Given the description of an element on the screen output the (x, y) to click on. 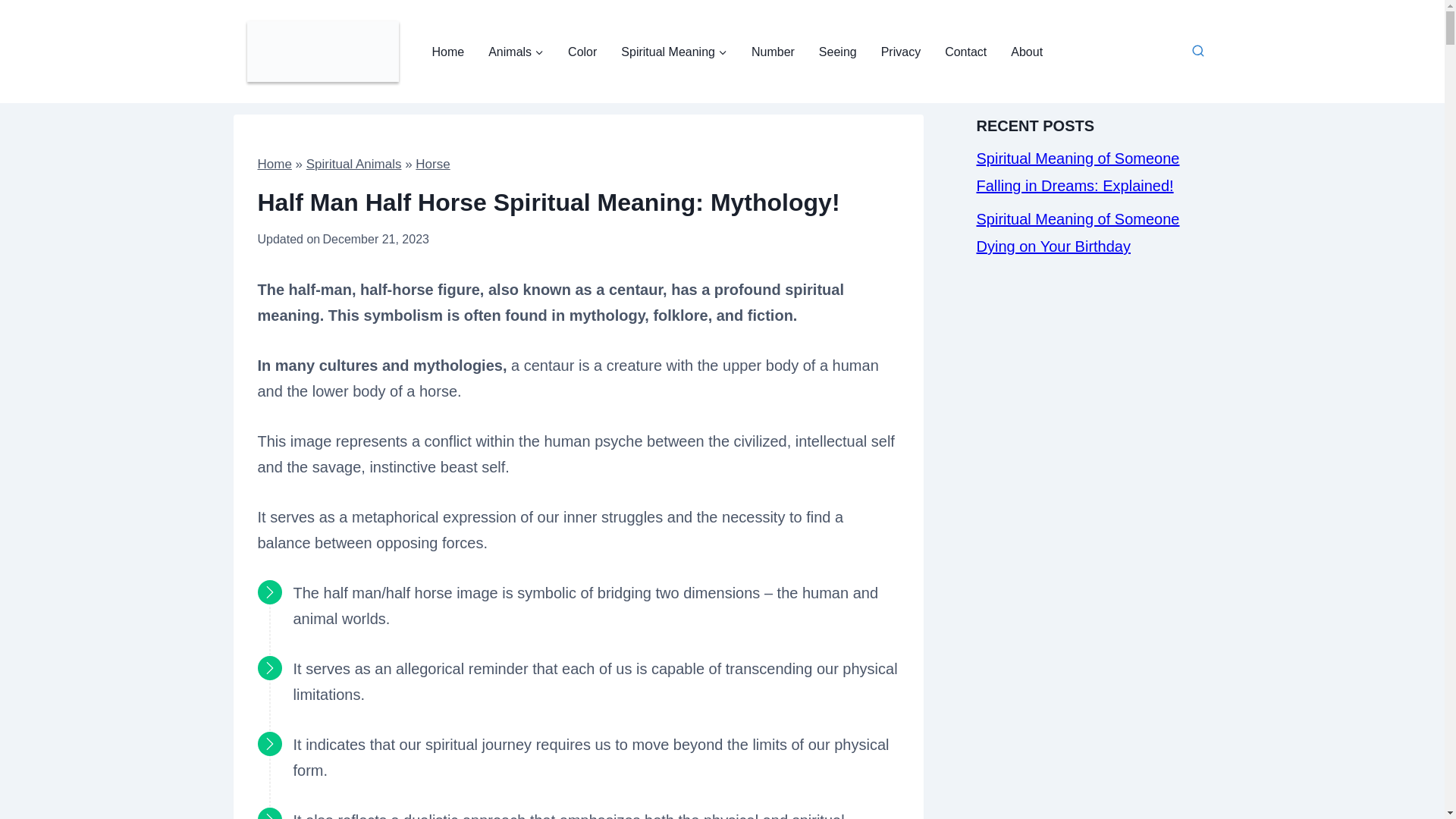
Animals (516, 51)
Spiritual Meaning (673, 51)
Home (448, 51)
Color (582, 51)
